Given the description of an element on the screen output the (x, y) to click on. 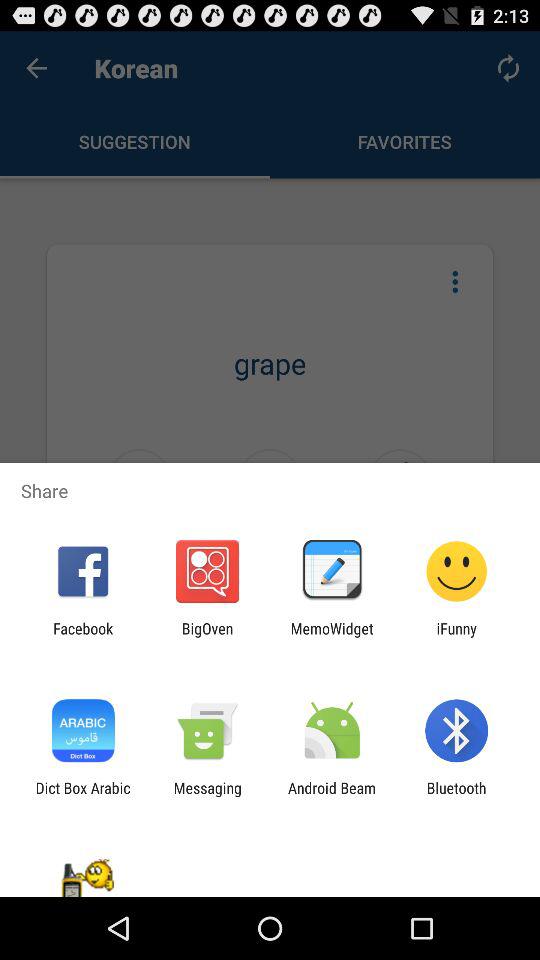
jump to the bigoven icon (207, 637)
